Given the description of an element on the screen output the (x, y) to click on. 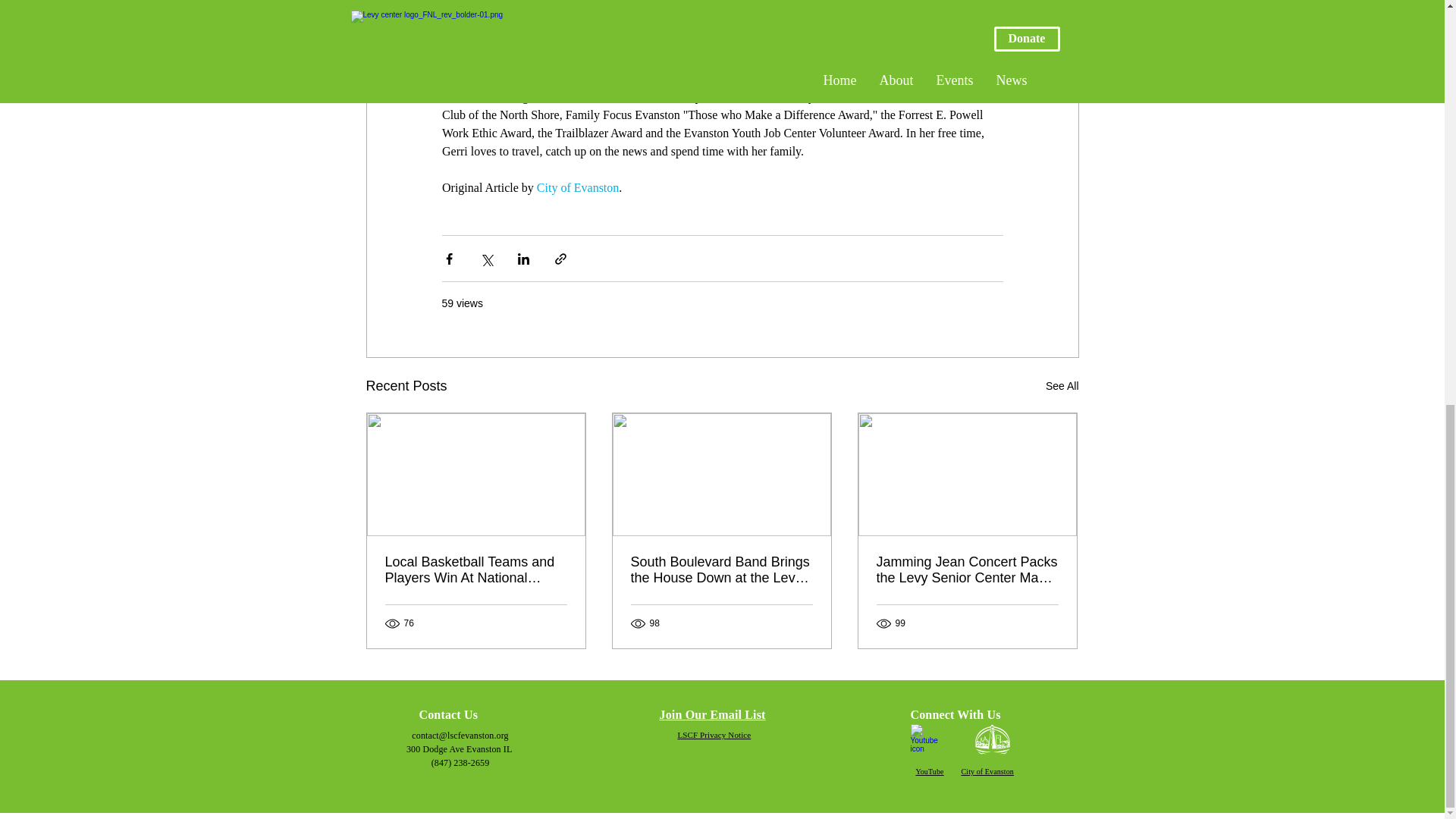
Jamming Jean Concert Packs the Levy Senior Center Maple Room (967, 570)
YouTube Channel (929, 741)
City of Evanston (576, 187)
See All (1061, 386)
